Given the description of an element on the screen output the (x, y) to click on. 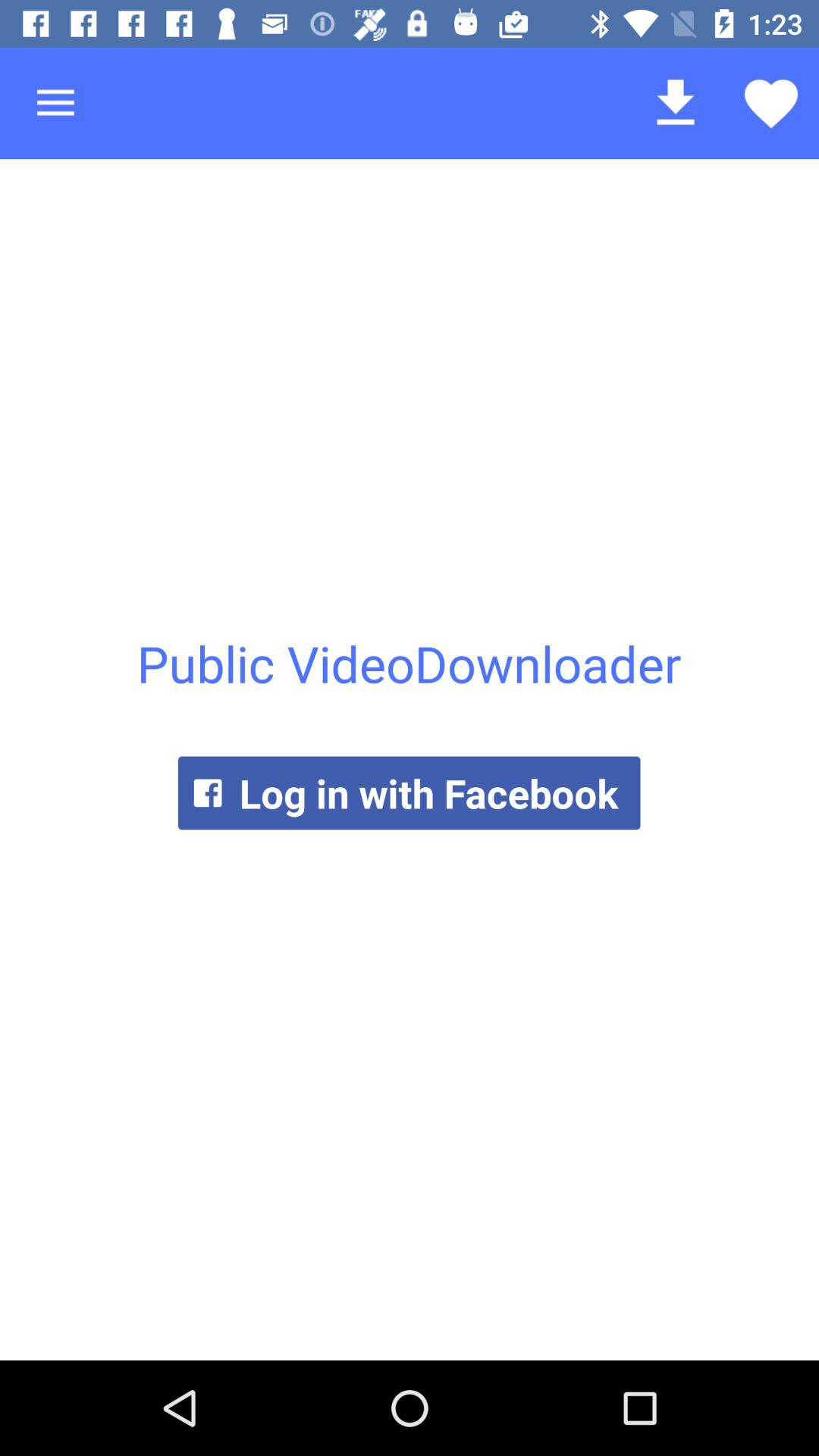
swipe until the log in with (409, 792)
